Given the description of an element on the screen output the (x, y) to click on. 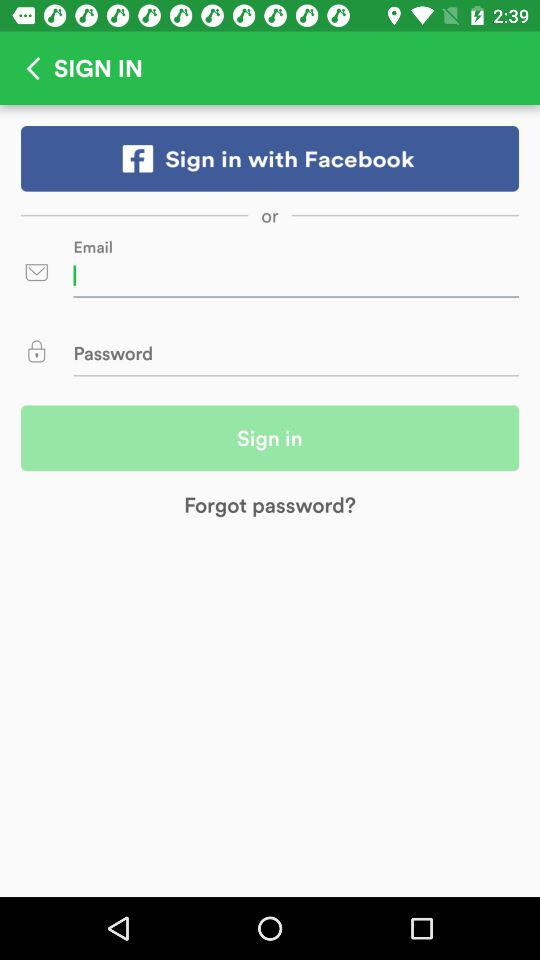
ender the email box (296, 275)
